Given the description of an element on the screen output the (x, y) to click on. 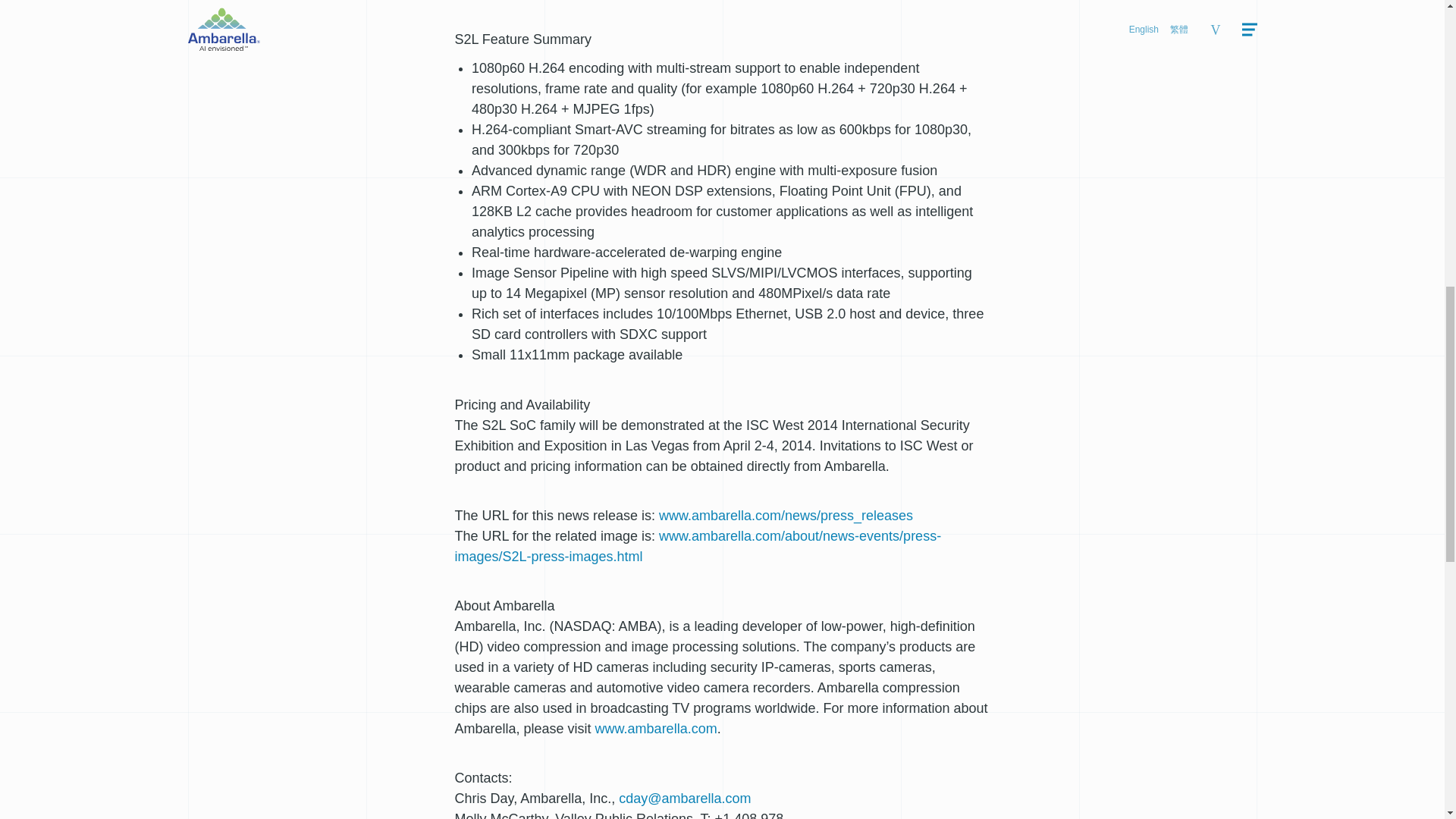
www.ambarella.com (656, 728)
